Given the description of an element on the screen output the (x, y) to click on. 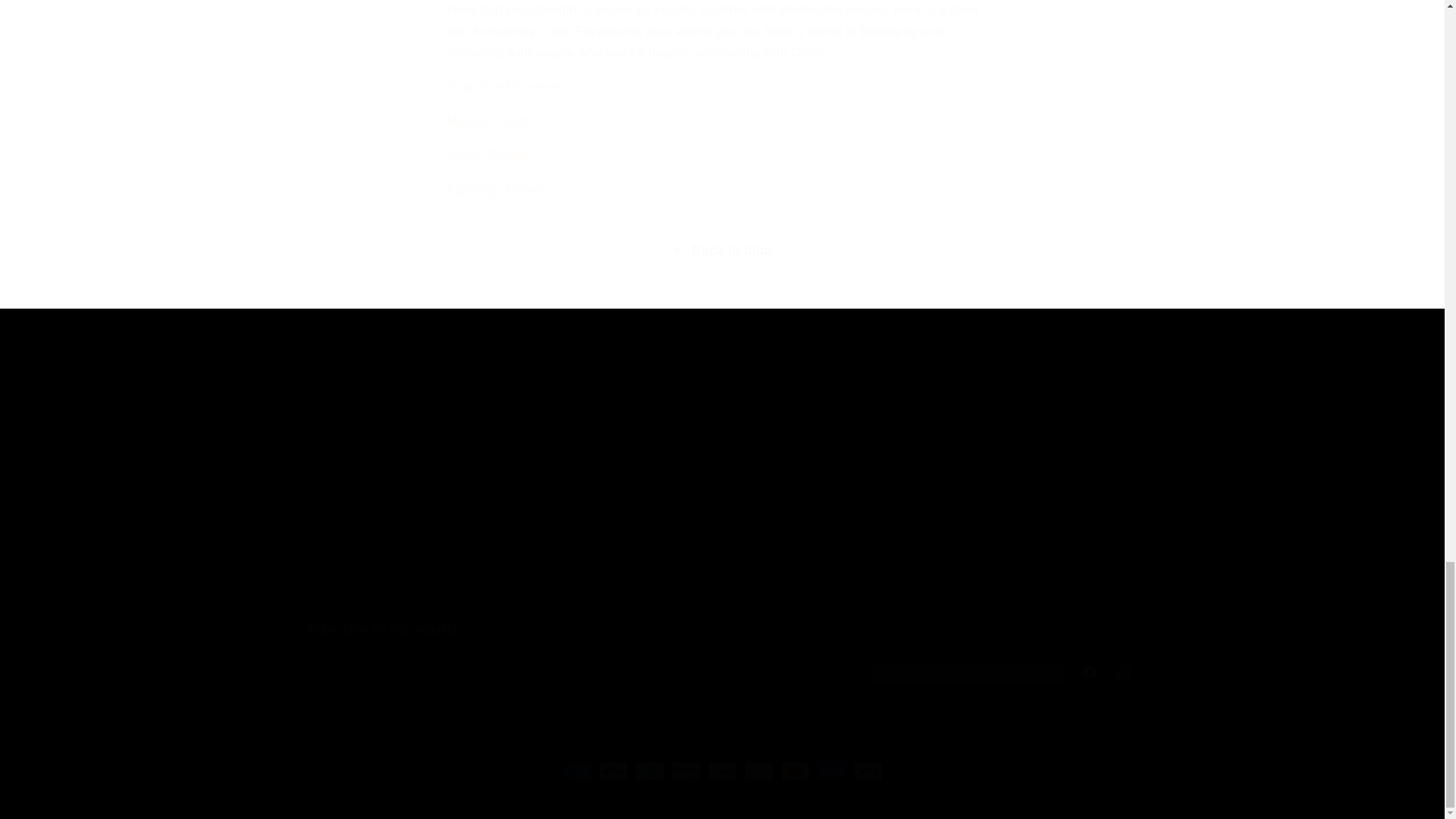
Simon Temple AME Zion Church (487, 154)
Manna Church (721, 654)
Epicenter Church (490, 120)
